Given the description of an element on the screen output the (x, y) to click on. 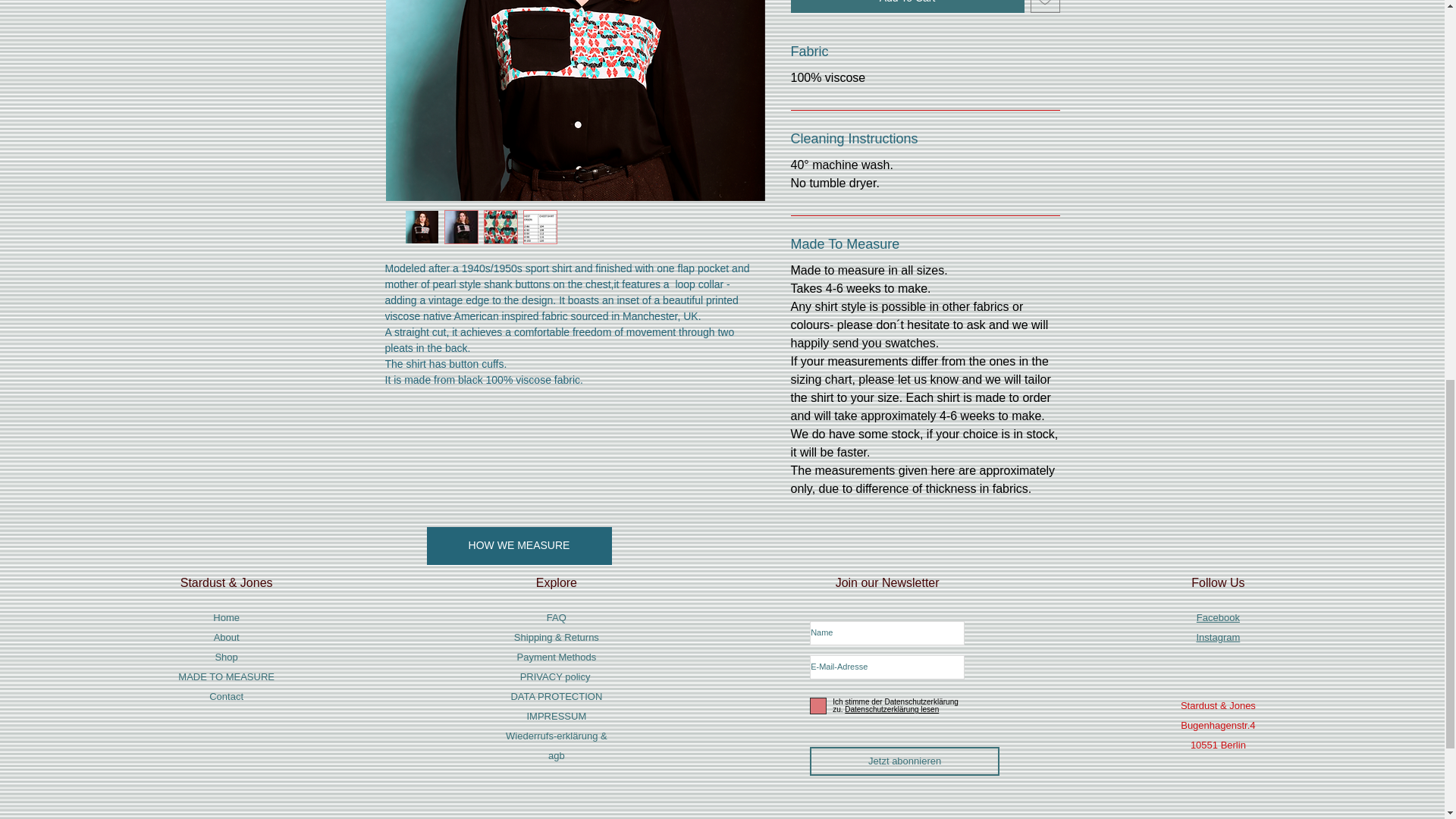
About (227, 636)
Home (226, 617)
FAQ (556, 617)
MADE TO MEASURE (226, 676)
Add To Cart (906, 6)
Shop (225, 656)
Contact (226, 696)
HOW WE MEASURE (518, 546)
